Given the description of an element on the screen output the (x, y) to click on. 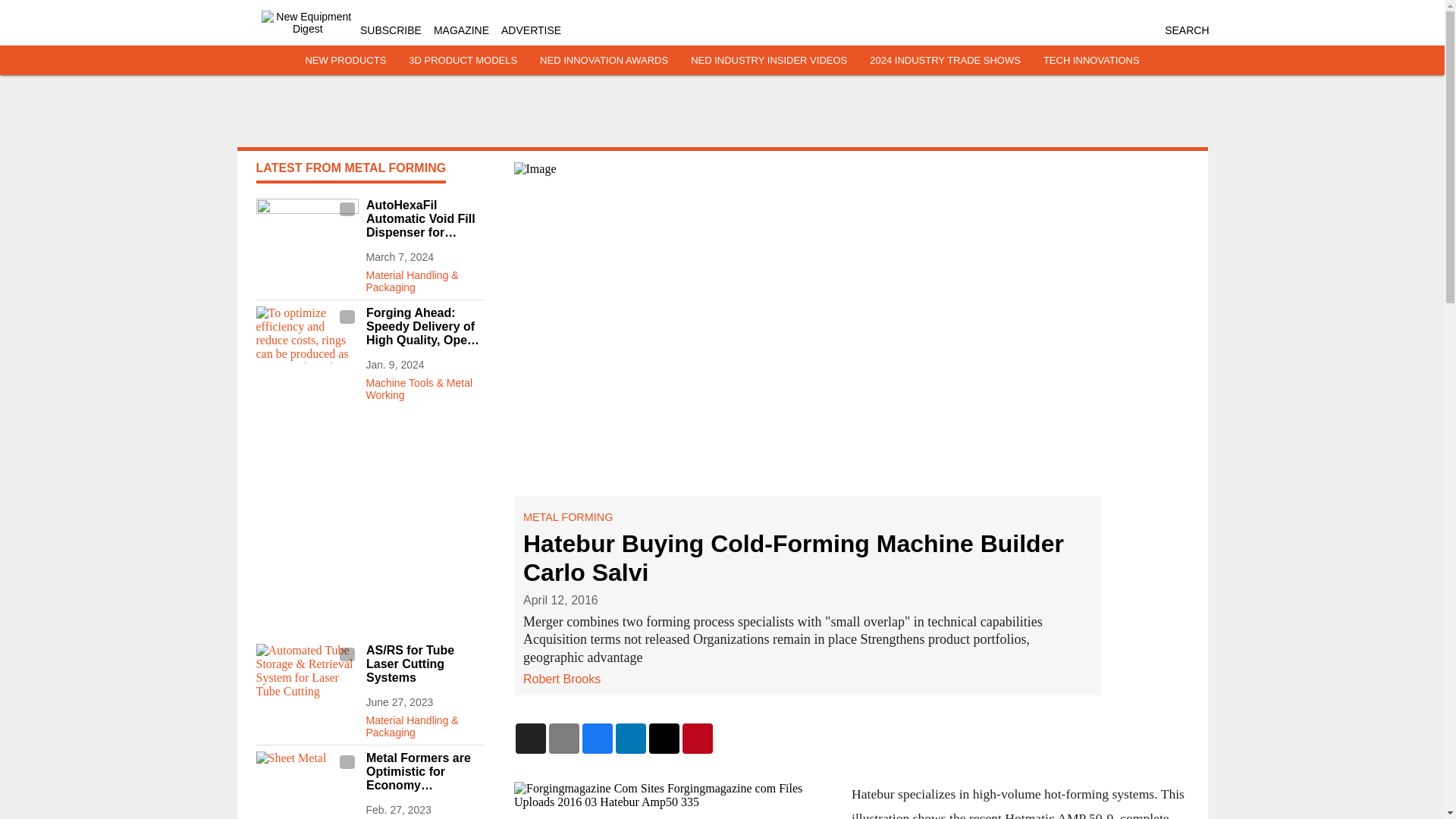
NEW PRODUCTS (344, 60)
SUBSCRIBE (390, 30)
Metal Formers are Optimistic for Economy Improvement (424, 771)
Sheet Metal (307, 779)
AutoHexaFil Automatic Void Fill Dispenser for Packing (424, 219)
NED INNOVATION AWARDS (604, 60)
SEARCH (1186, 30)
MAGAZINE (461, 30)
2024 INDUSTRY TRADE SHOWS (944, 60)
NED Newswire (424, 817)
TECH INNOVATIONS (1091, 60)
ADVERTISE (530, 30)
NED INDUSTRY INSIDER VIDEOS (768, 60)
